Given the description of an element on the screen output the (x, y) to click on. 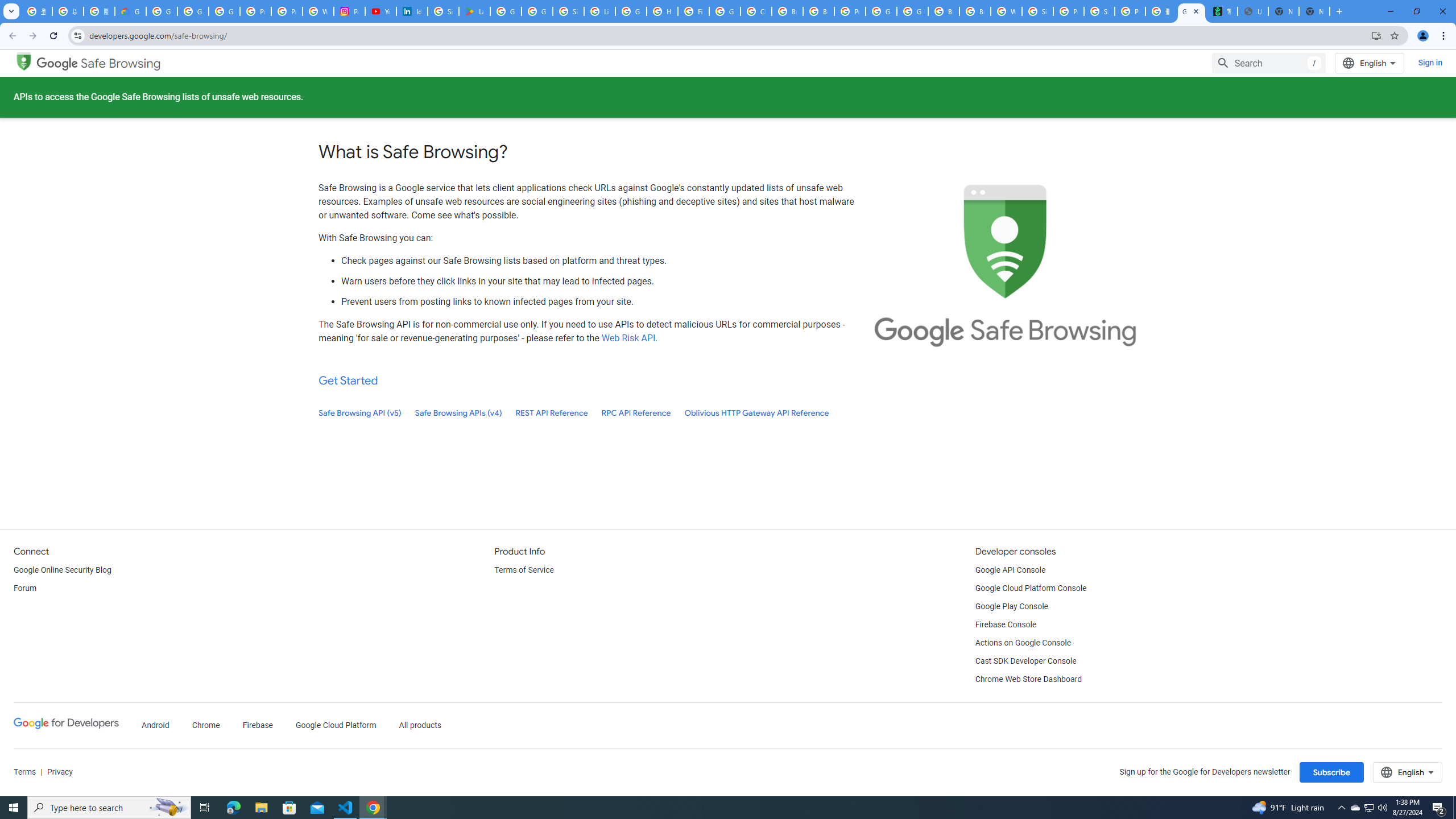
Untitled (1252, 11)
